Given the description of an element on the screen output the (x, y) to click on. 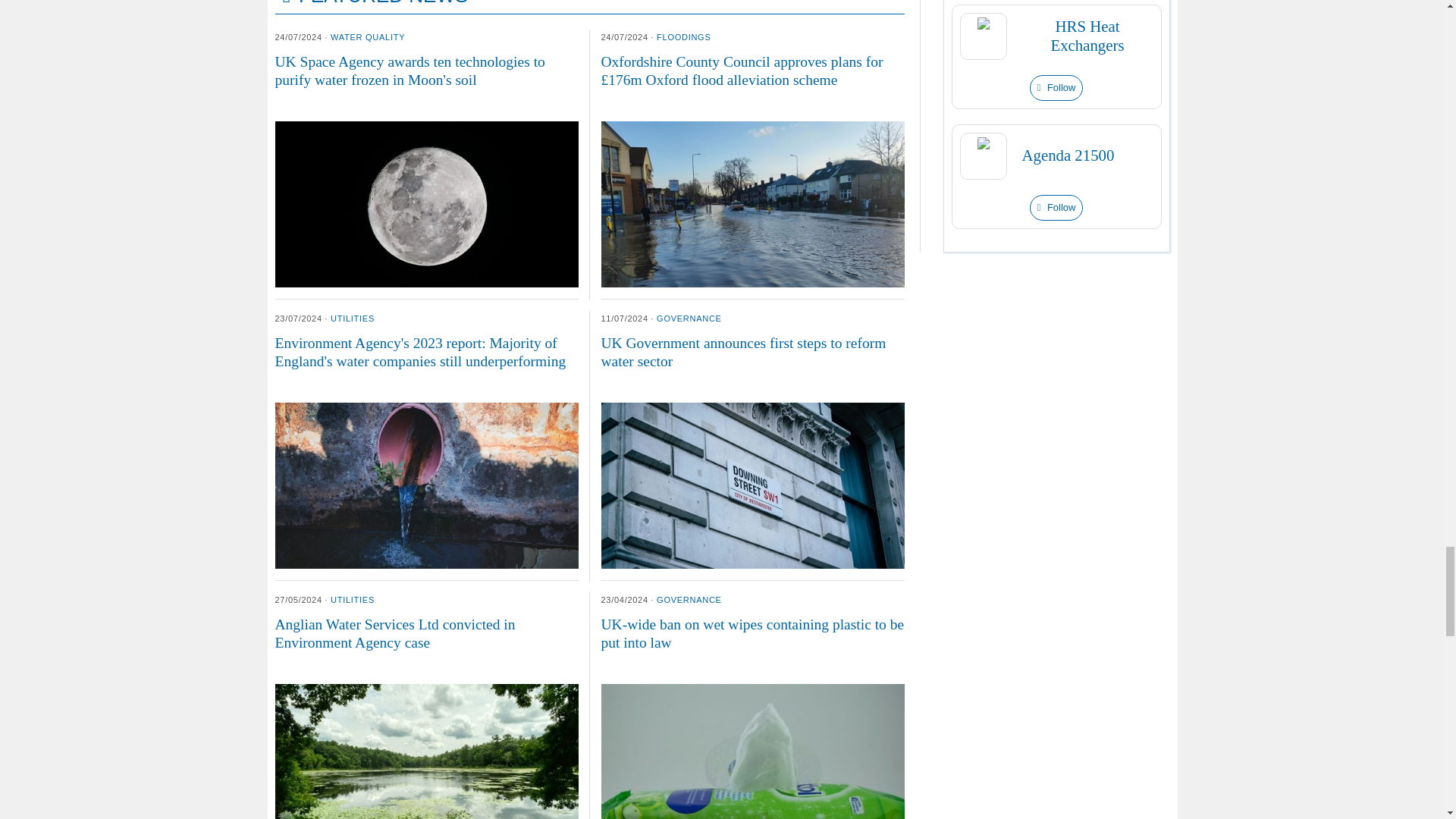
View more articles of Water quality (367, 36)
View more articles of Floodings (683, 36)
View more articles of Utilities (352, 317)
